Given the description of an element on the screen output the (x, y) to click on. 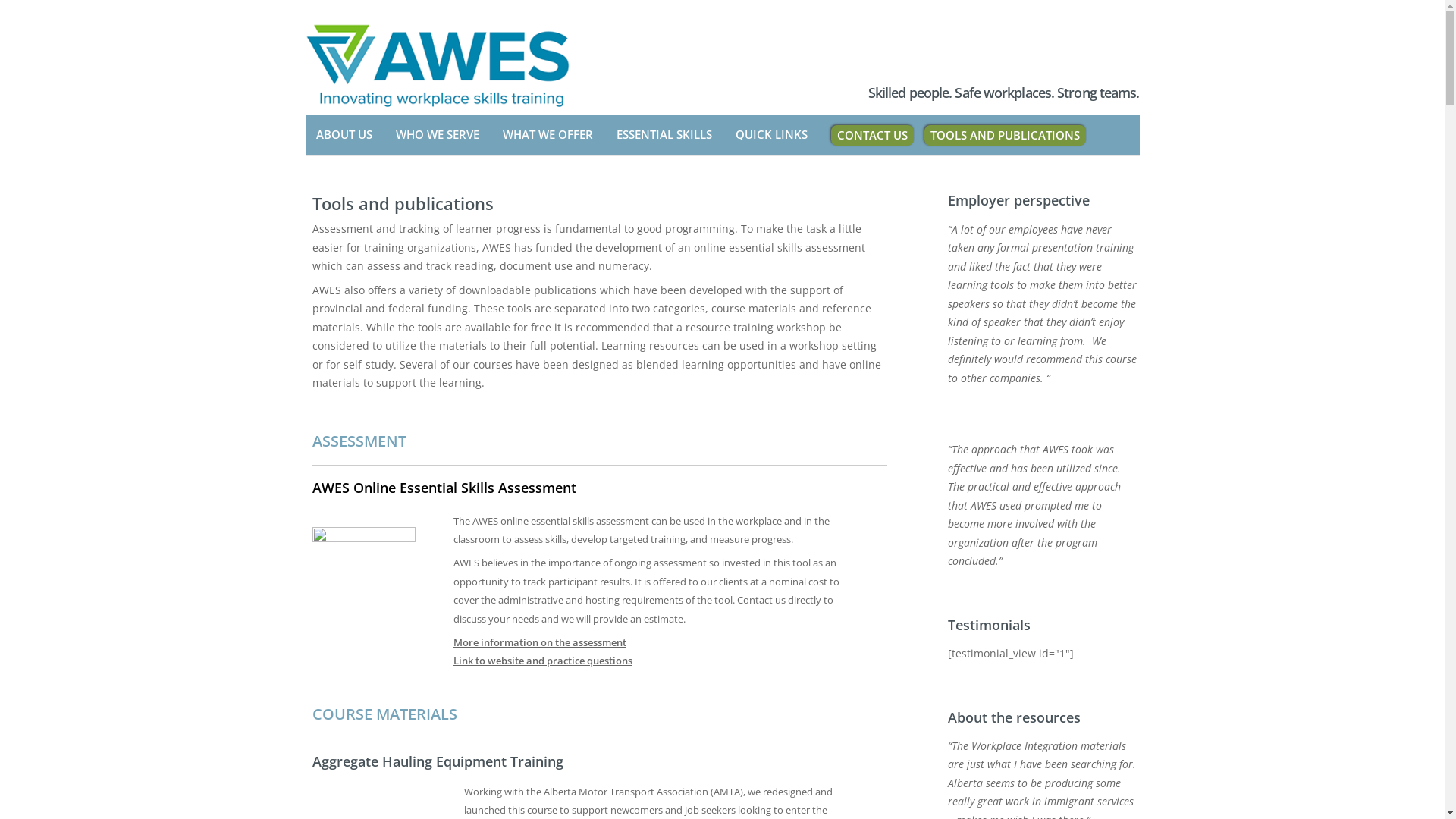
CONTACT US Element type: text (872, 135)
WHAT WE OFFER Element type: text (547, 135)
ABOUT US Element type: text (343, 135)
More information on the assessment Element type: text (539, 642)
Link to website and practice questions Element type: text (542, 660)
TOOLS AND PUBLICATIONS Element type: text (1004, 135)
WHO WE SERVE Element type: text (437, 135)
QUICK LINKS Element type: text (771, 135)
ESSENTIAL SKILLS Element type: text (663, 135)
